Given the description of an element on the screen output the (x, y) to click on. 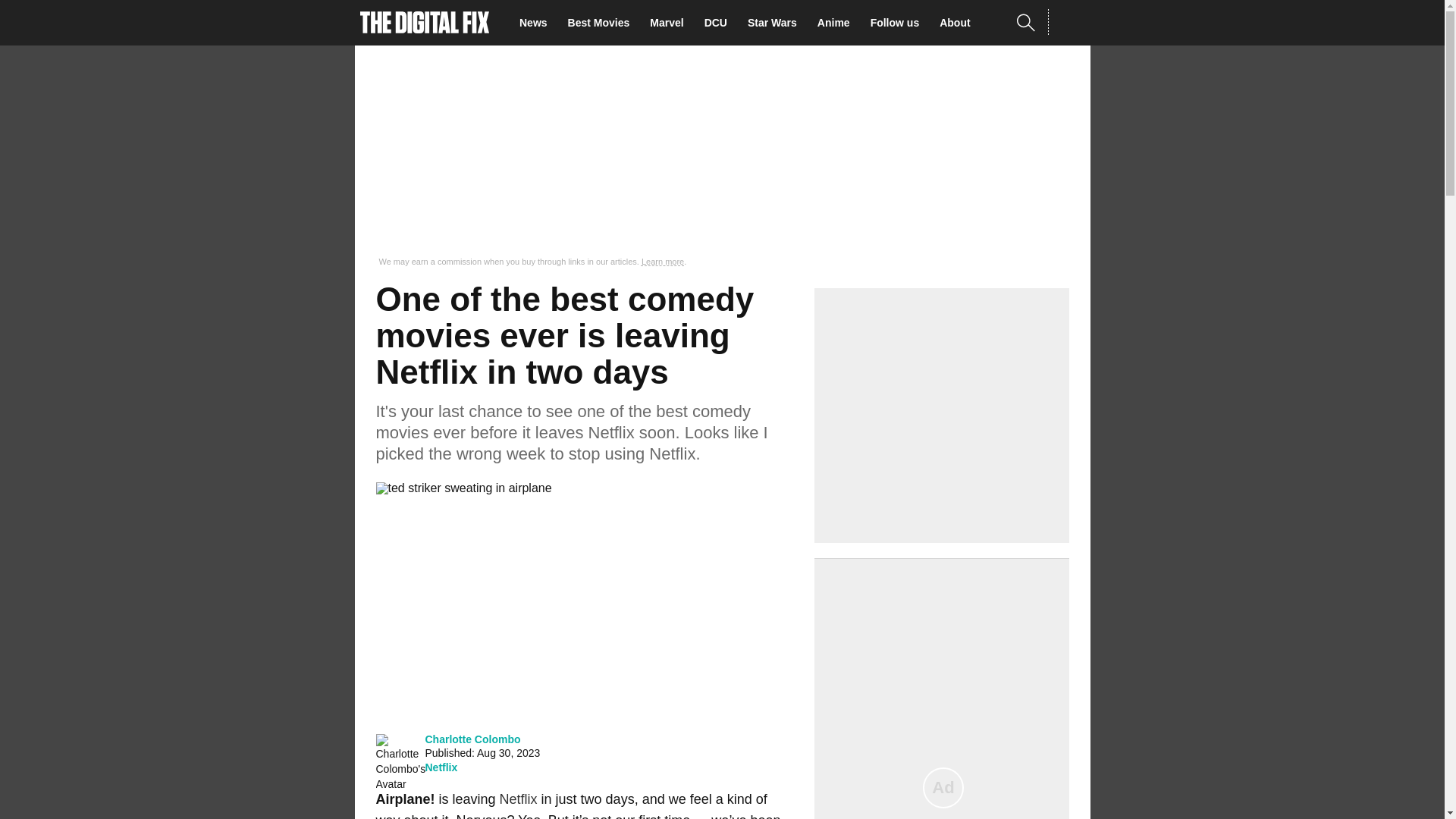
Anime (837, 22)
Learn more (663, 261)
Anime News (837, 22)
Follow us (899, 22)
Netflix (441, 767)
Charlotte Colombo (472, 739)
Star Wars (777, 22)
The Digital Fix (424, 22)
Marvel Cinematic Universe News (671, 22)
Marvel (671, 22)
Network N Media (1068, 22)
Star Wars News (777, 22)
Best Movies (603, 22)
Netflix (518, 798)
